Given the description of an element on the screen output the (x, y) to click on. 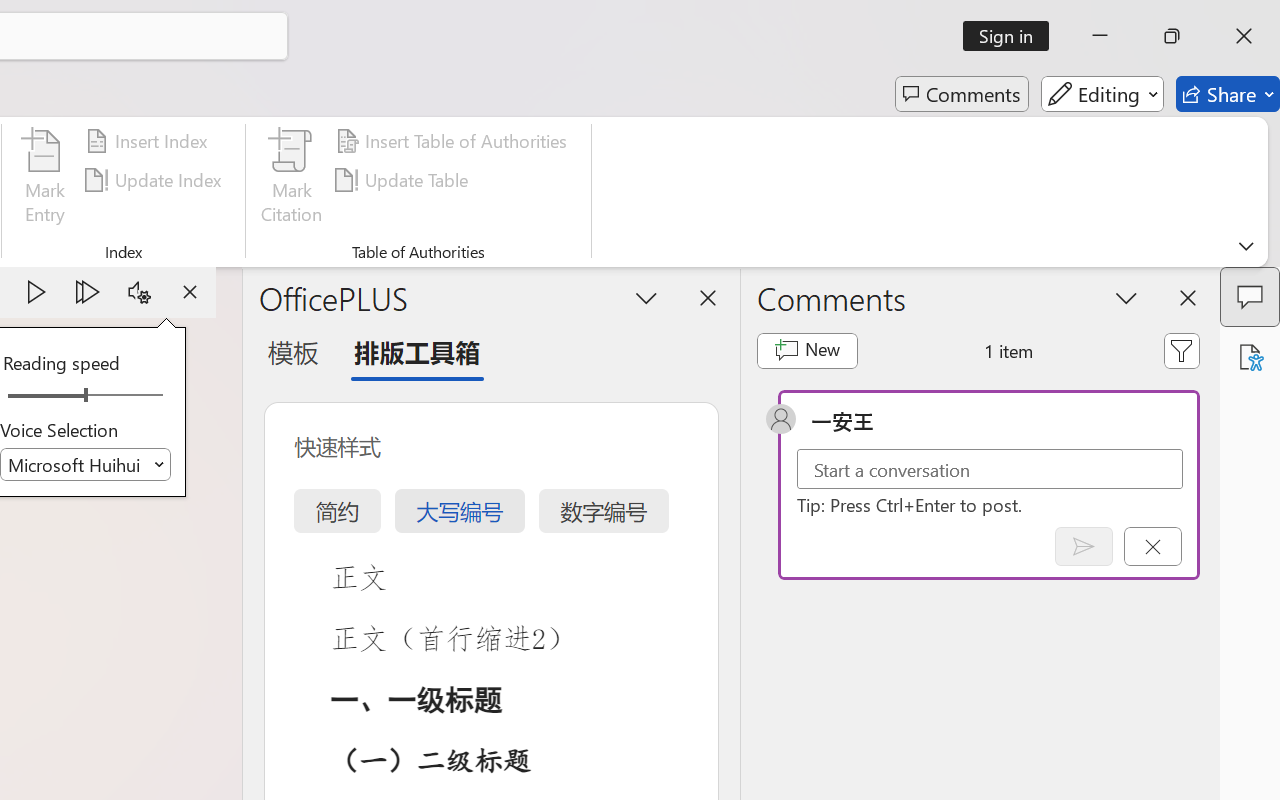
Update Index (156, 179)
Post comment (Ctrl + Enter) (1083, 546)
Page right (129, 395)
Start a conversation (990, 468)
Play (36, 292)
Insert Index... (149, 141)
Page left (40, 395)
Voice Selection (85, 464)
Mark Entry... (44, 179)
